Given the description of an element on the screen output the (x, y) to click on. 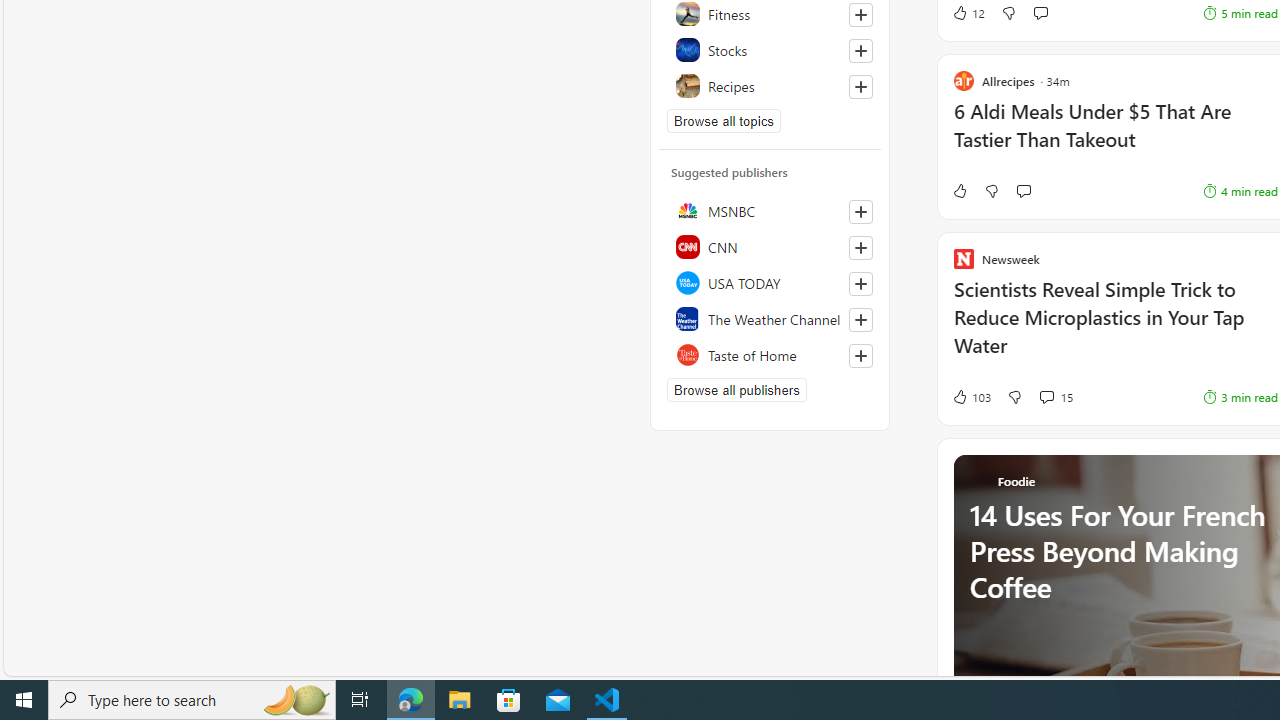
View comments 15 Comment (1046, 396)
Taste of Home (770, 354)
6 Aldi Meals Under $5 That Are Tastier Than Takeout (1115, 135)
The Weather Channel (770, 318)
12 Like (968, 12)
Stocks (770, 49)
Browse all topics (724, 120)
Recipes (770, 85)
Follow this topic (860, 86)
Follow this source (860, 355)
